Given the description of an element on the screen output the (x, y) to click on. 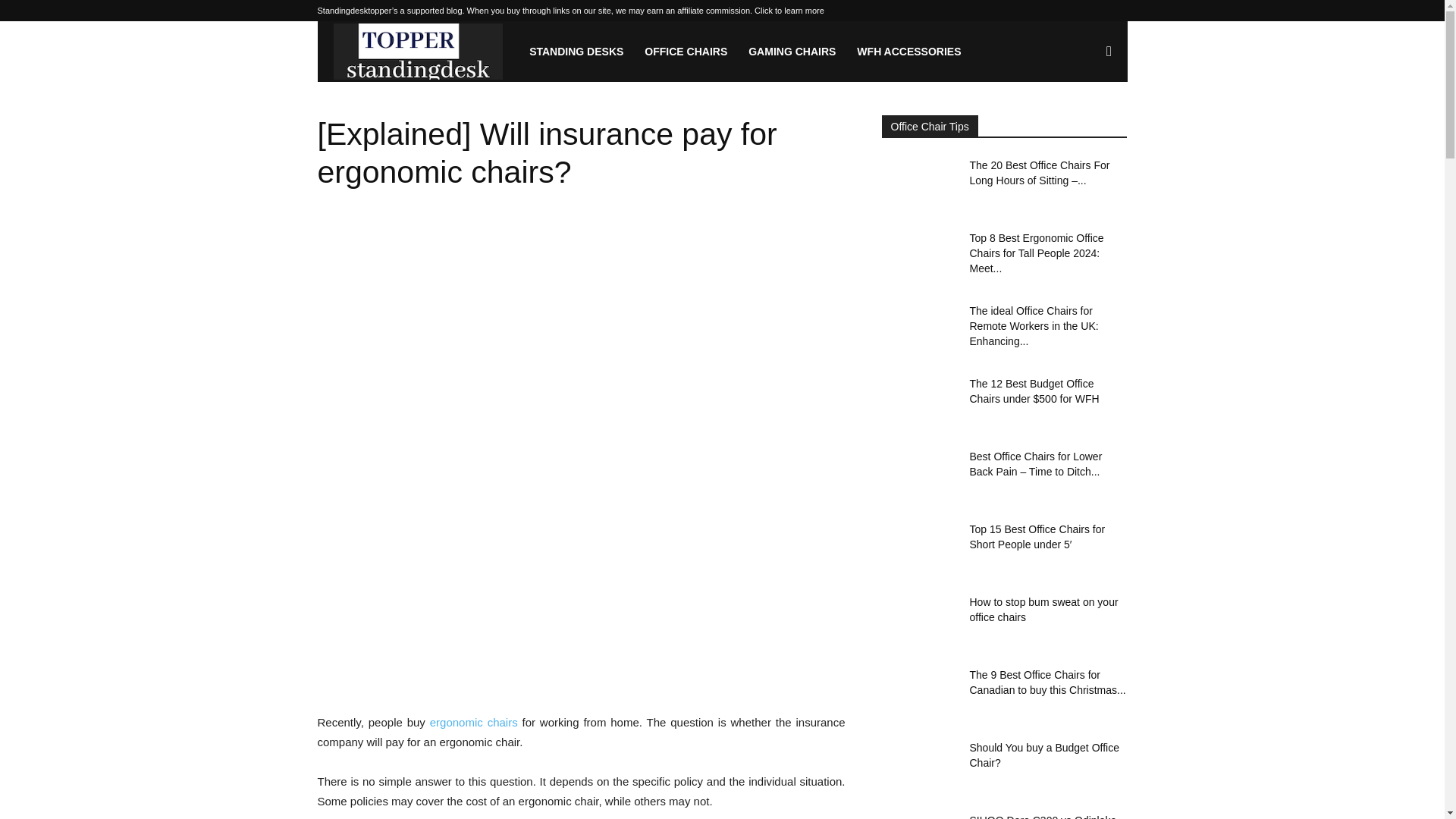
Standing desk topper (418, 51)
STANDING DESKS (575, 51)
OFFICE CHAIRS (685, 51)
